Given the description of an element on the screen output the (x, y) to click on. 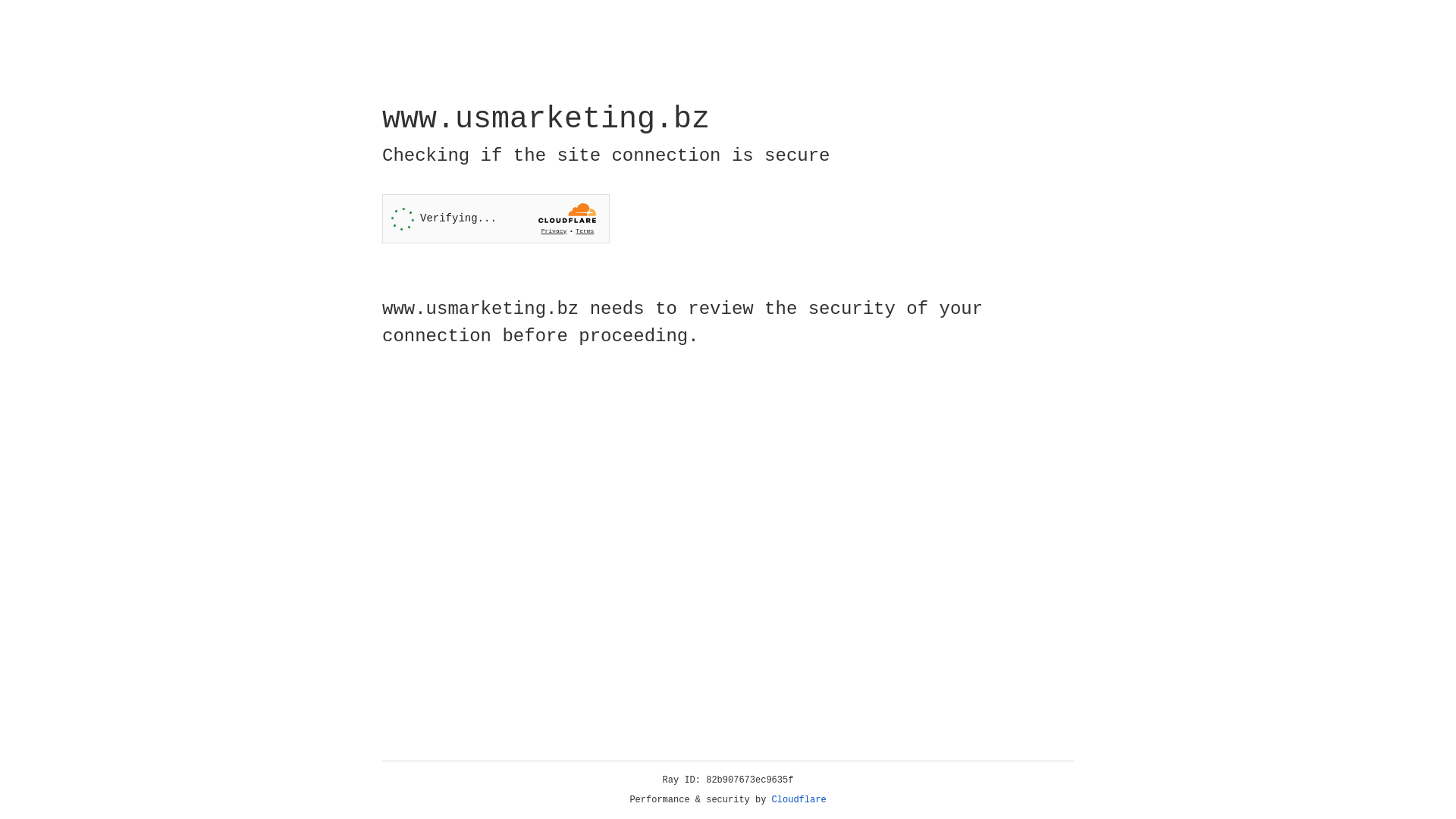
Widget containing a Cloudflare security challenge Element type: hover (495, 218)
Cloudflare Element type: text (798, 799)
